Given the description of an element on the screen output the (x, y) to click on. 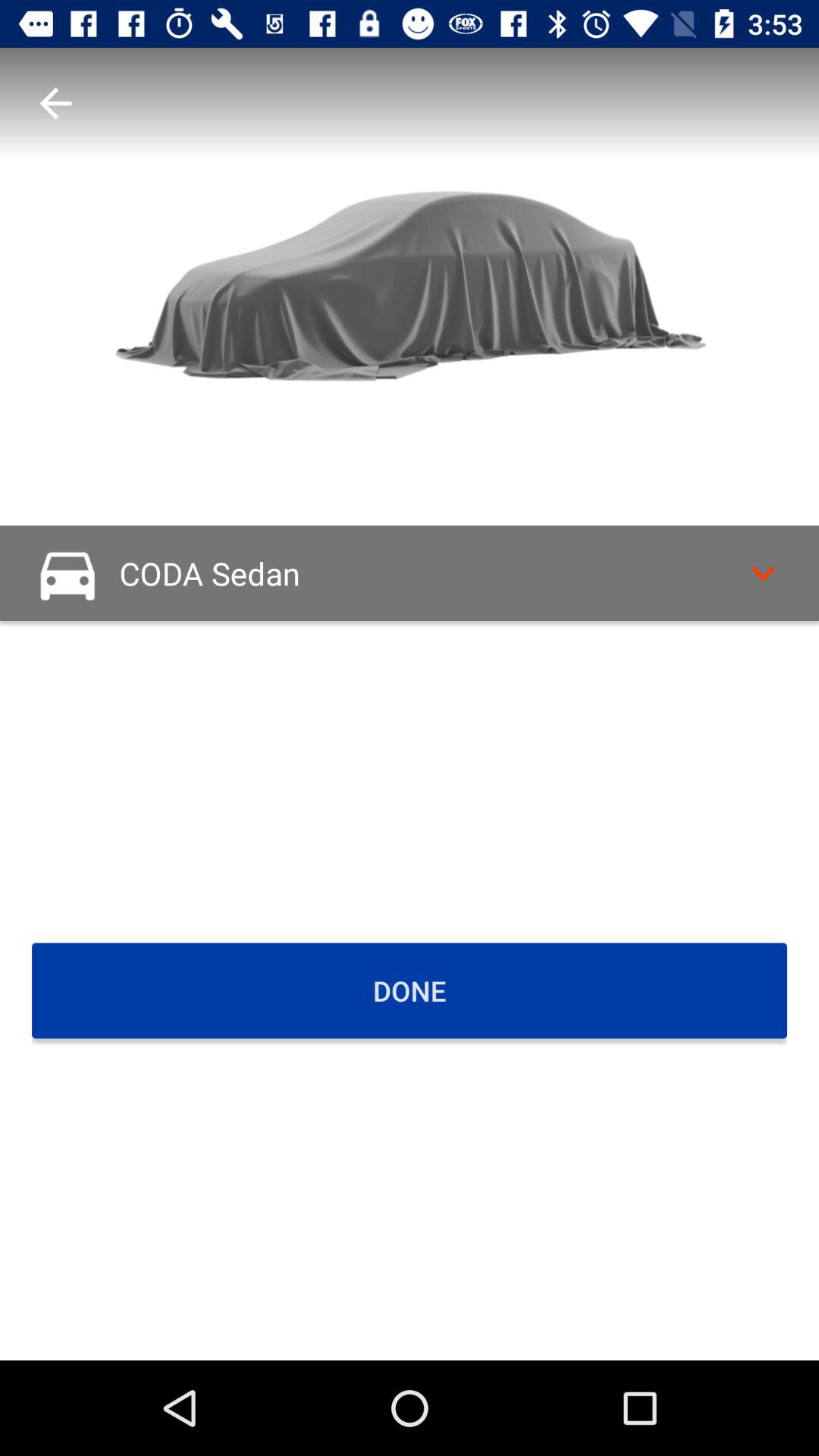
scroll to done icon (409, 990)
